Given the description of an element on the screen output the (x, y) to click on. 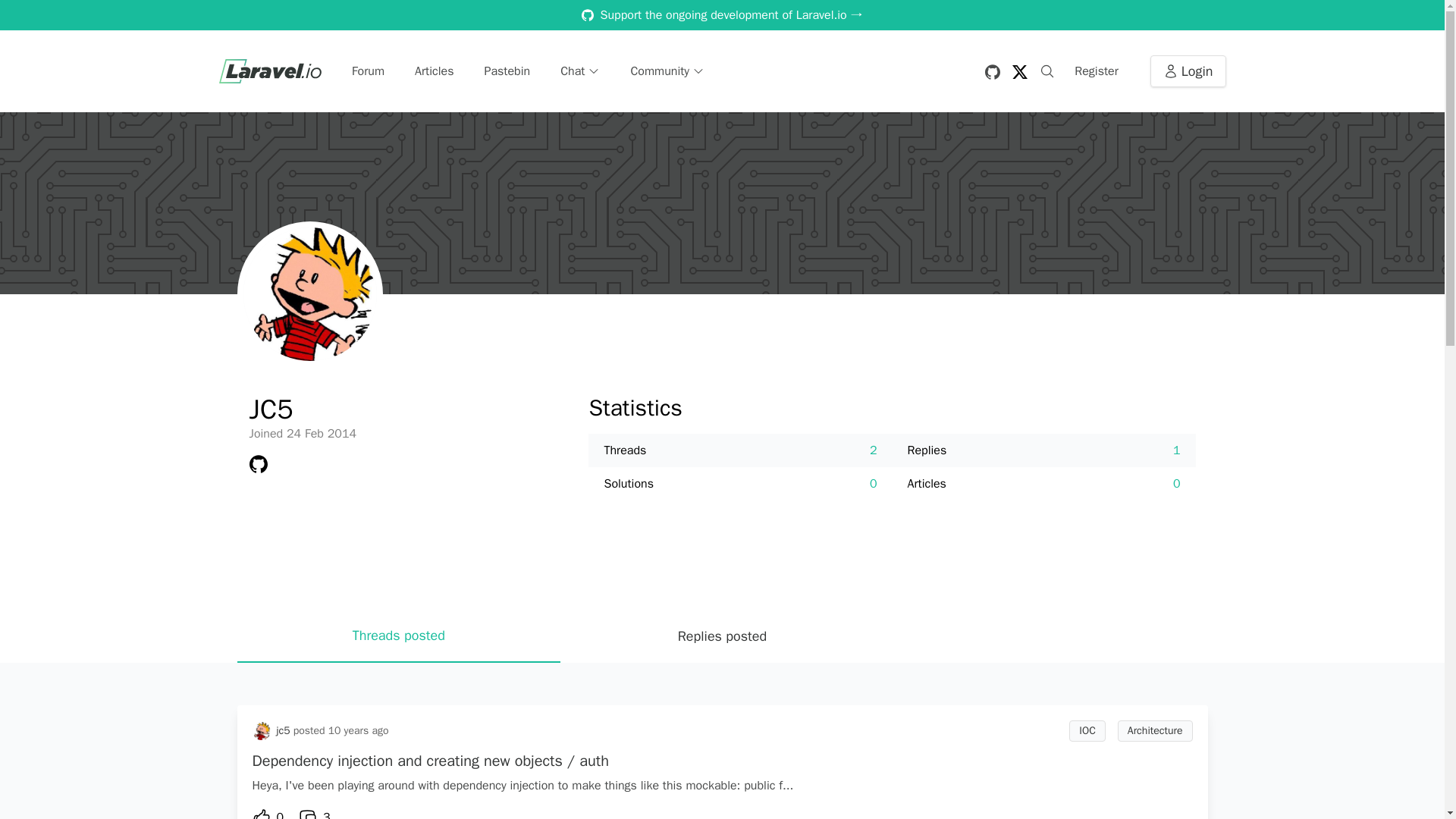
Articles (434, 70)
Chat (579, 70)
Architecture (1155, 731)
Login (1187, 70)
X (1019, 71)
Pastebin (506, 70)
Register (1096, 70)
Replies posted (721, 635)
Community (667, 70)
Forum (368, 70)
jc5 (282, 730)
Threads posted (397, 635)
IOC (1086, 731)
